Given the description of an element on the screen output the (x, y) to click on. 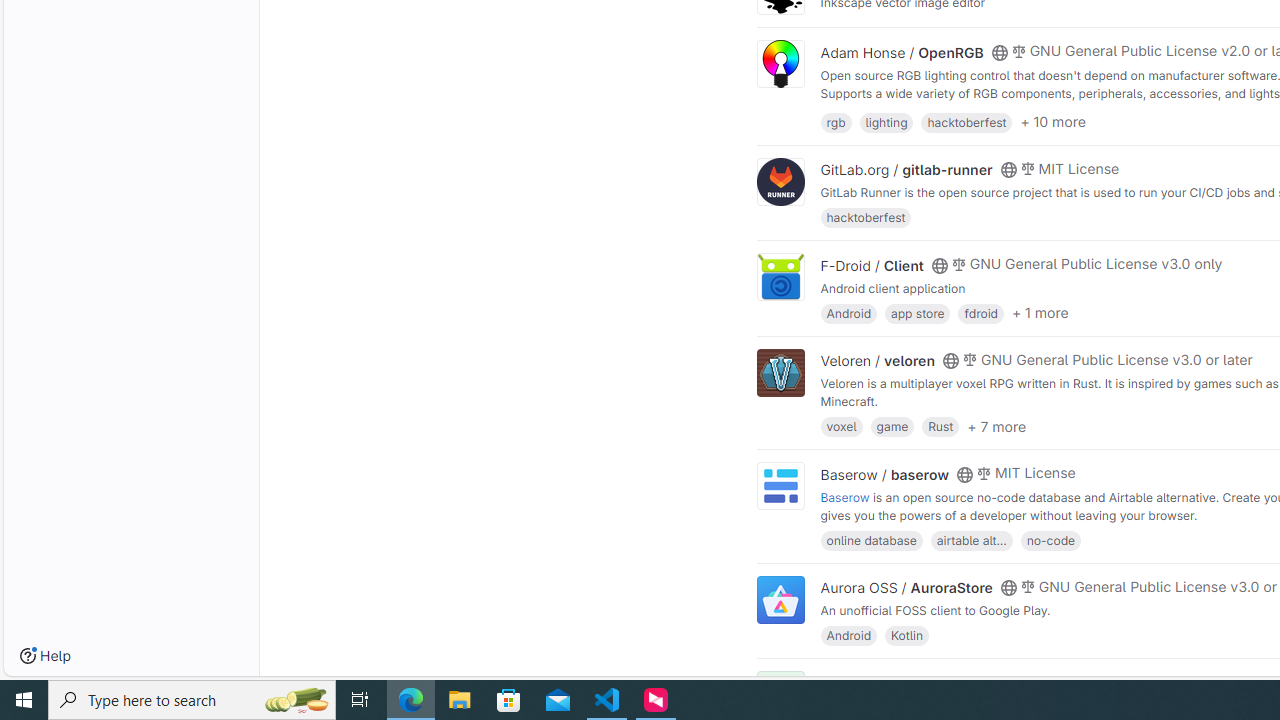
hacktoberfest (866, 217)
+ 1 more (1039, 313)
Edouard Klein / falsisign (902, 682)
F (780, 695)
https://openrgb.org (989, 110)
Aurora OSS / AuroraStore (906, 587)
lighting (886, 120)
Class: s14 gl-mr-2 (1018, 681)
Kotlin (907, 634)
Rust (940, 426)
fdroid (980, 312)
GitLab.org / gitlab-runner (906, 170)
game (892, 426)
rgb (836, 120)
